Given the description of an element on the screen output the (x, y) to click on. 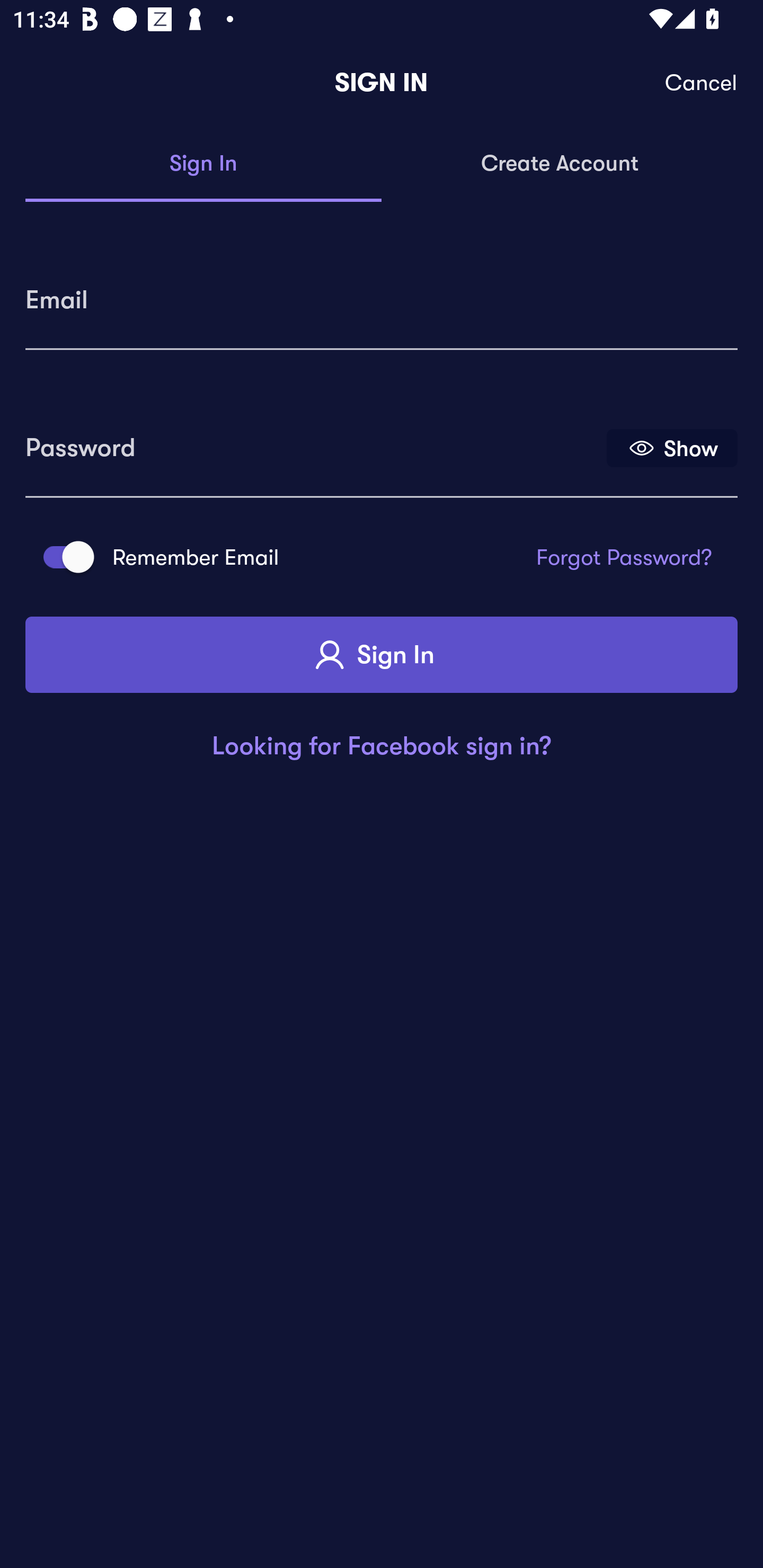
Cancel (701, 82)
Sign In (203, 164)
Create Account (559, 164)
Email (381, 293)
Password (314, 441)
Show Password Show (671, 447)
Remember Email (62, 557)
Sign In (381, 654)
